Given the description of an element on the screen output the (x, y) to click on. 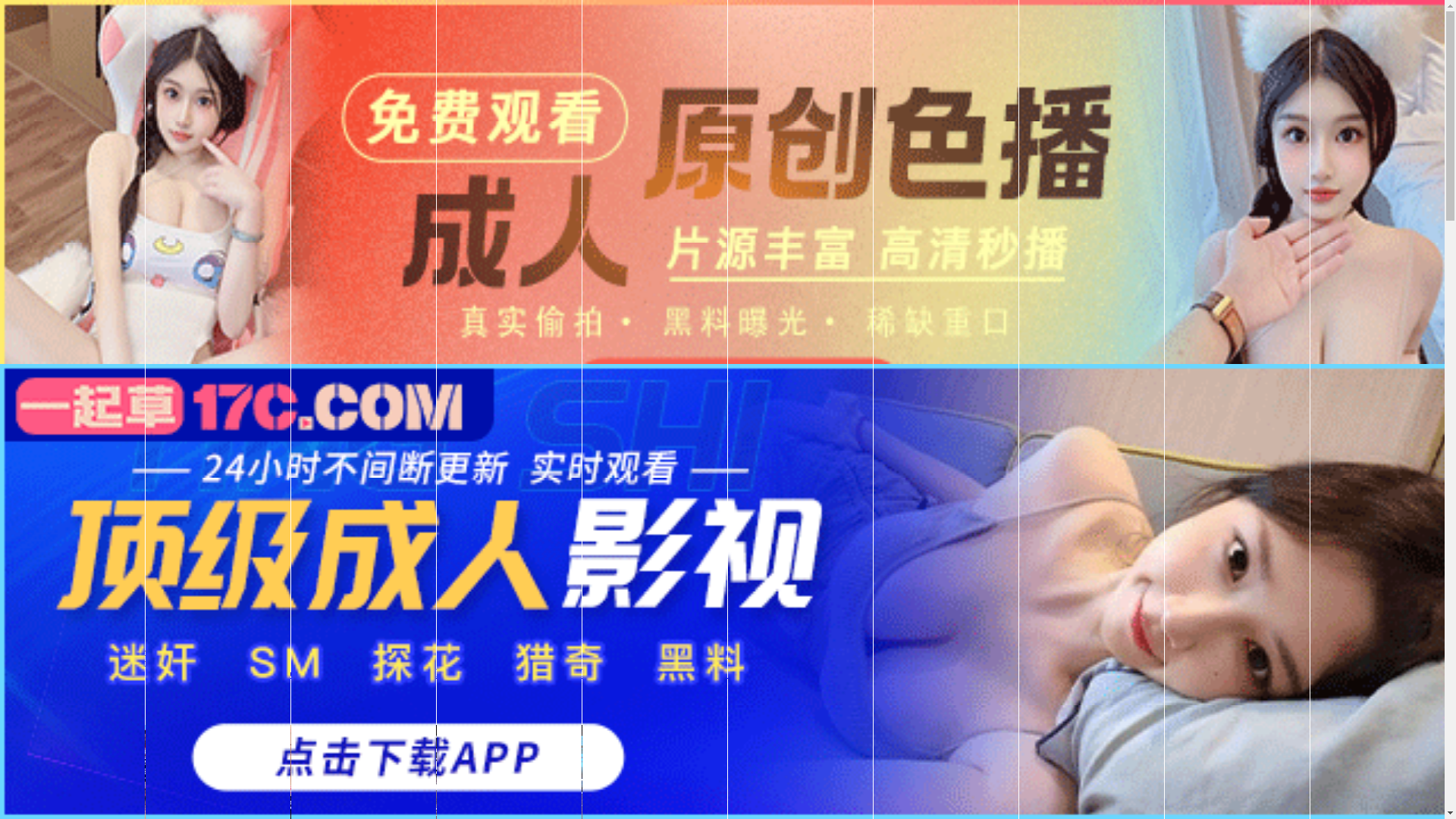
COS Element type: text (553, 672)
3P Element type: text (381, 672)
SM Element type: text (398, 672)
Korean Element type: text (294, 672)
91 Element type: text (53, 672)
